Given the description of an element on the screen output the (x, y) to click on. 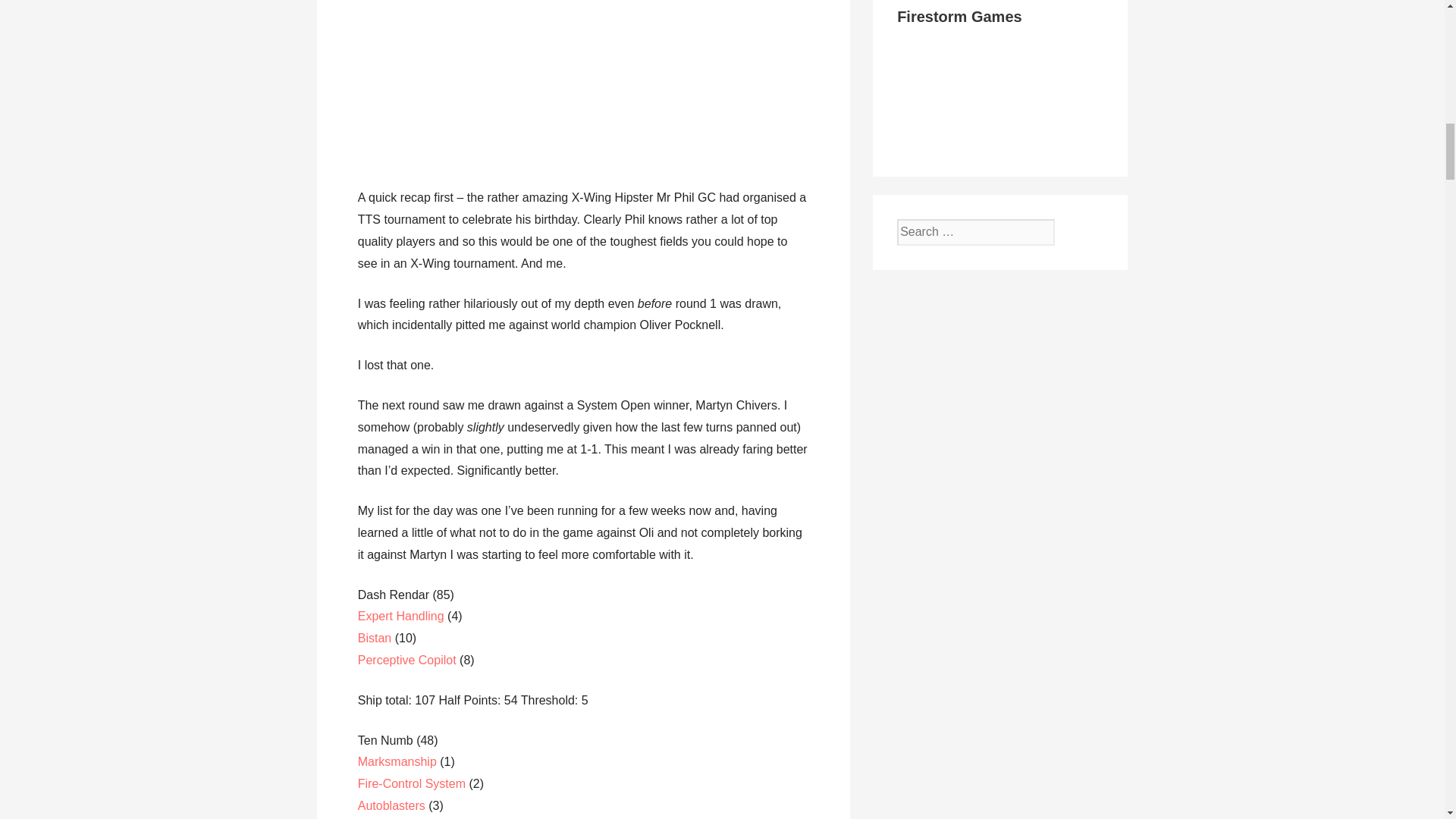
Marksmanship (398, 761)
Perceptive Copilot (407, 659)
Expert Handling (401, 615)
Fire-Control System (411, 783)
Autoblasters (393, 805)
Bistan (376, 637)
